Given the description of an element on the screen output the (x, y) to click on. 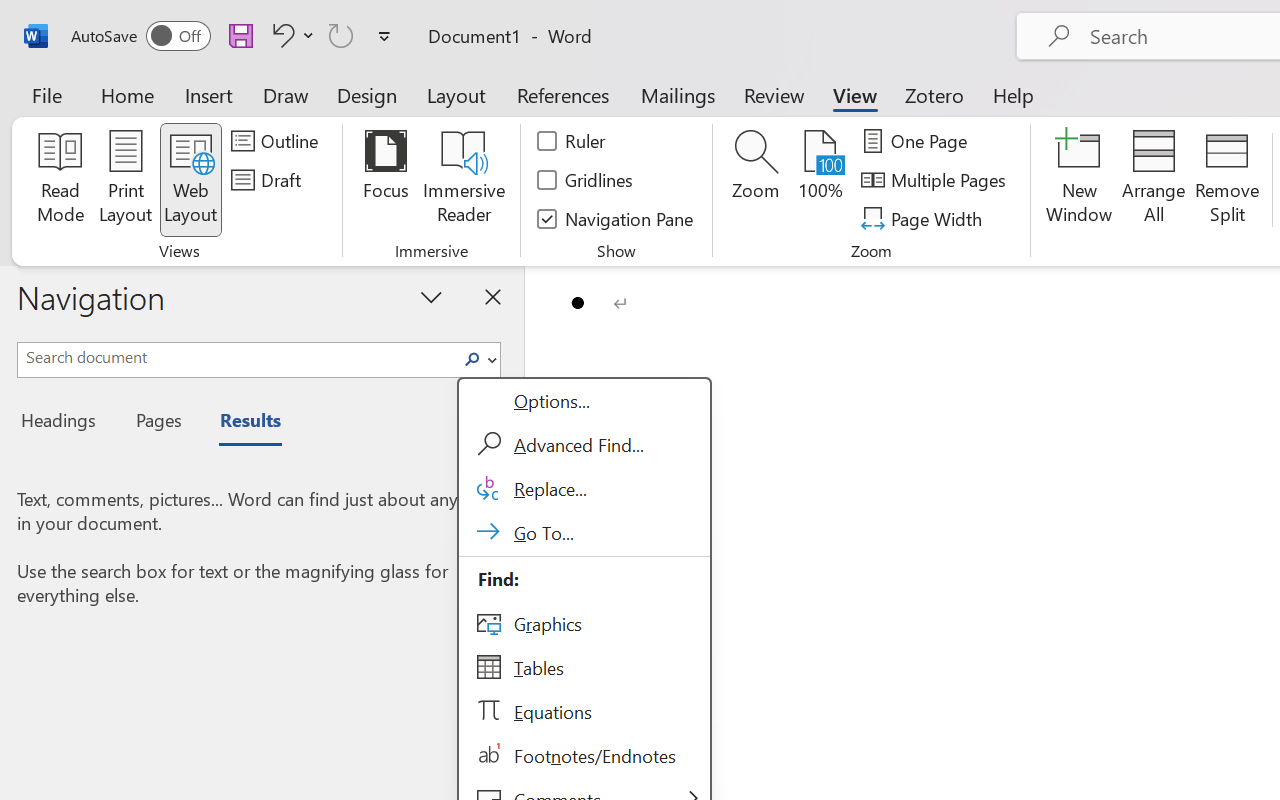
Arrange All (1153, 179)
Page Width (924, 218)
Results (240, 423)
One Page (917, 141)
Zoom... (755, 179)
Search document (236, 357)
Pages (156, 423)
